Given the description of an element on the screen output the (x, y) to click on. 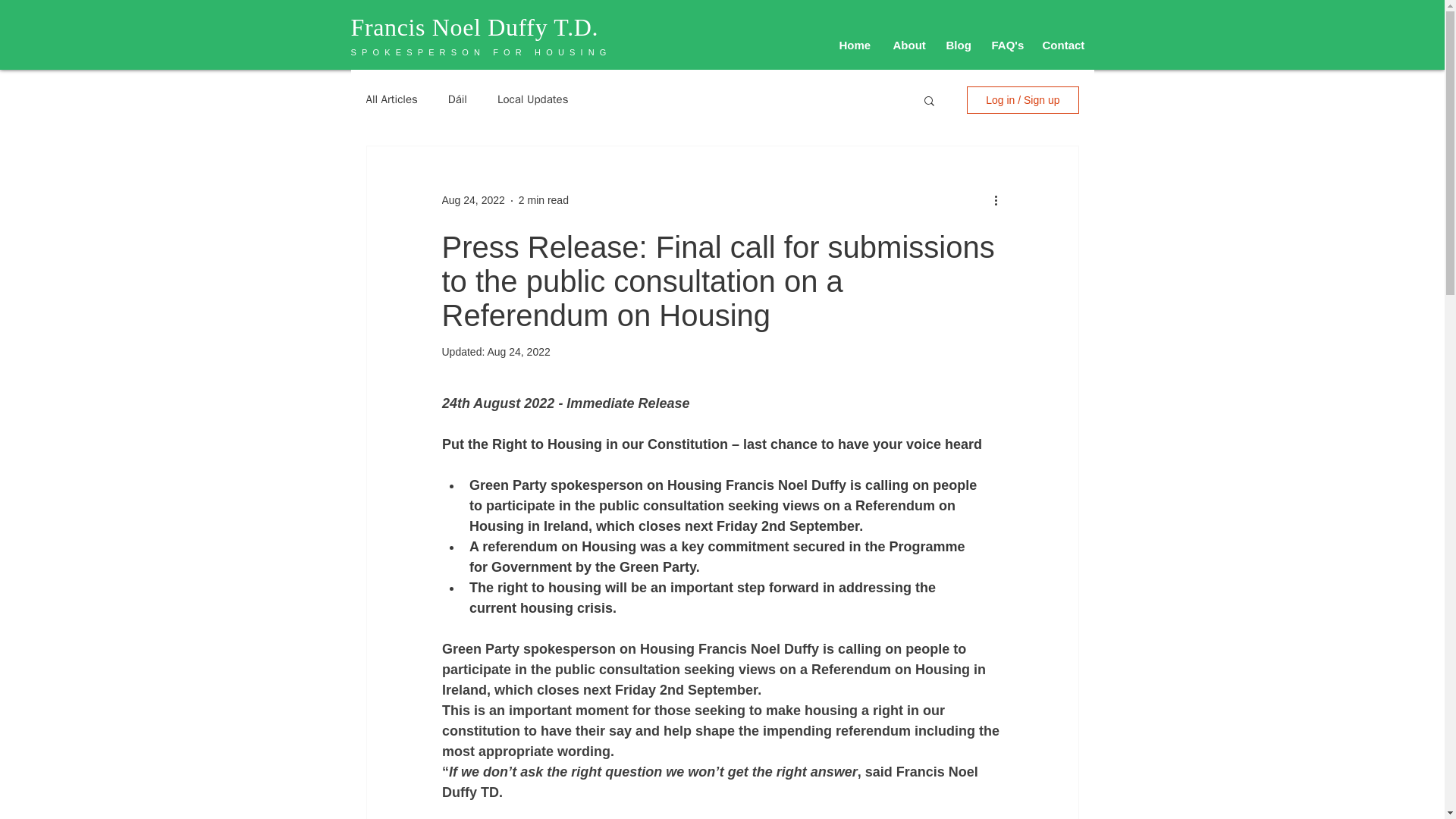
Local Updates (532, 99)
SPOKESPERSON FOR HOUSING (480, 51)
Francis Noel Duffy T.D. (474, 26)
Aug 24, 2022 (518, 351)
About (907, 45)
Blog (956, 45)
All Articles (390, 99)
Aug 24, 2022 (472, 200)
Contact (1062, 45)
FAQ's (1004, 45)
Home (855, 45)
2 min read (543, 200)
